Given the description of an element on the screen output the (x, y) to click on. 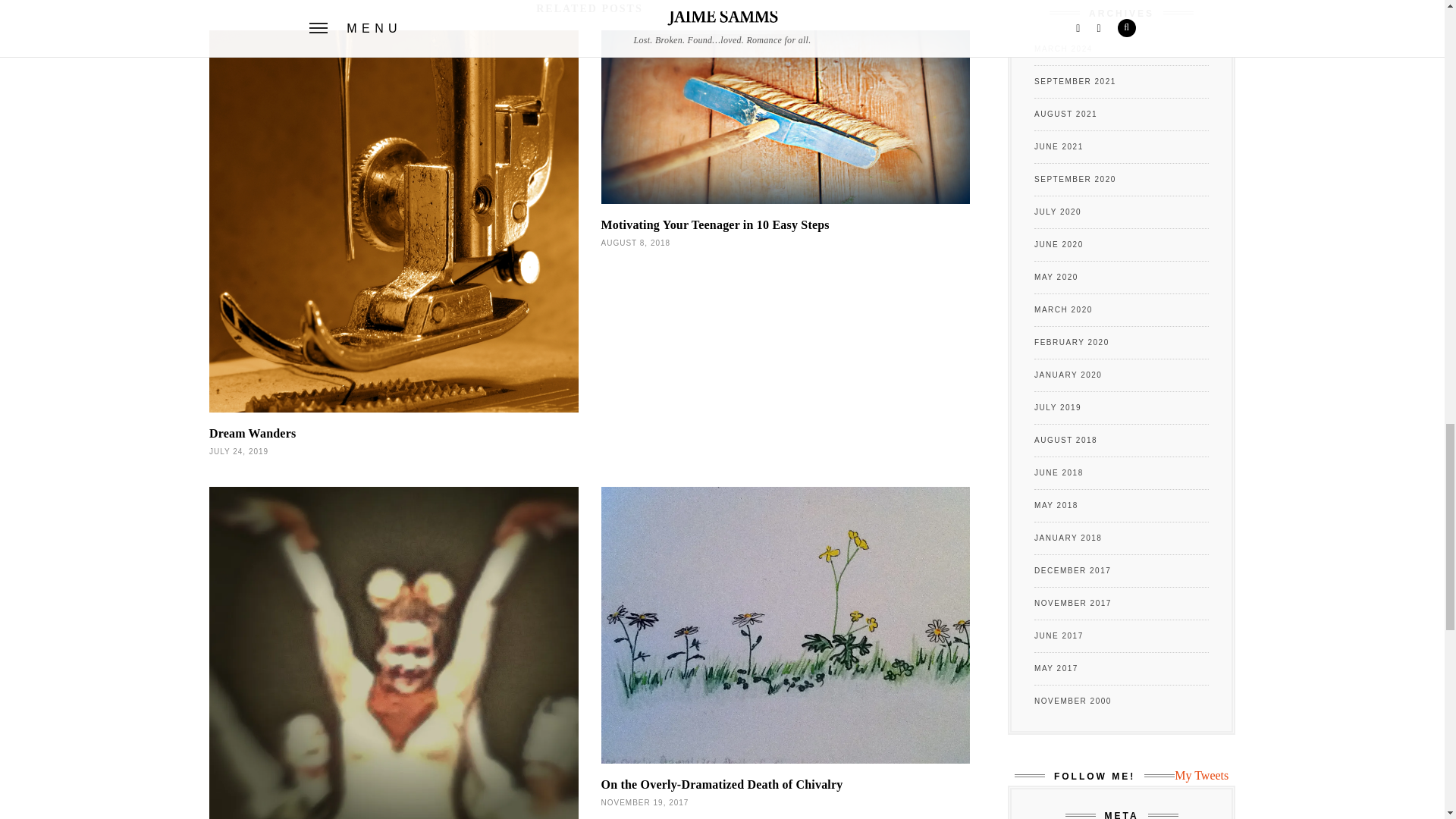
Motivating Your Teenager in 10 Easy Steps (713, 224)
Dream Wanders (252, 432)
AUGUST 8, 2018 (634, 243)
JULY 24, 2019 (238, 451)
